Given the description of an element on the screen output the (x, y) to click on. 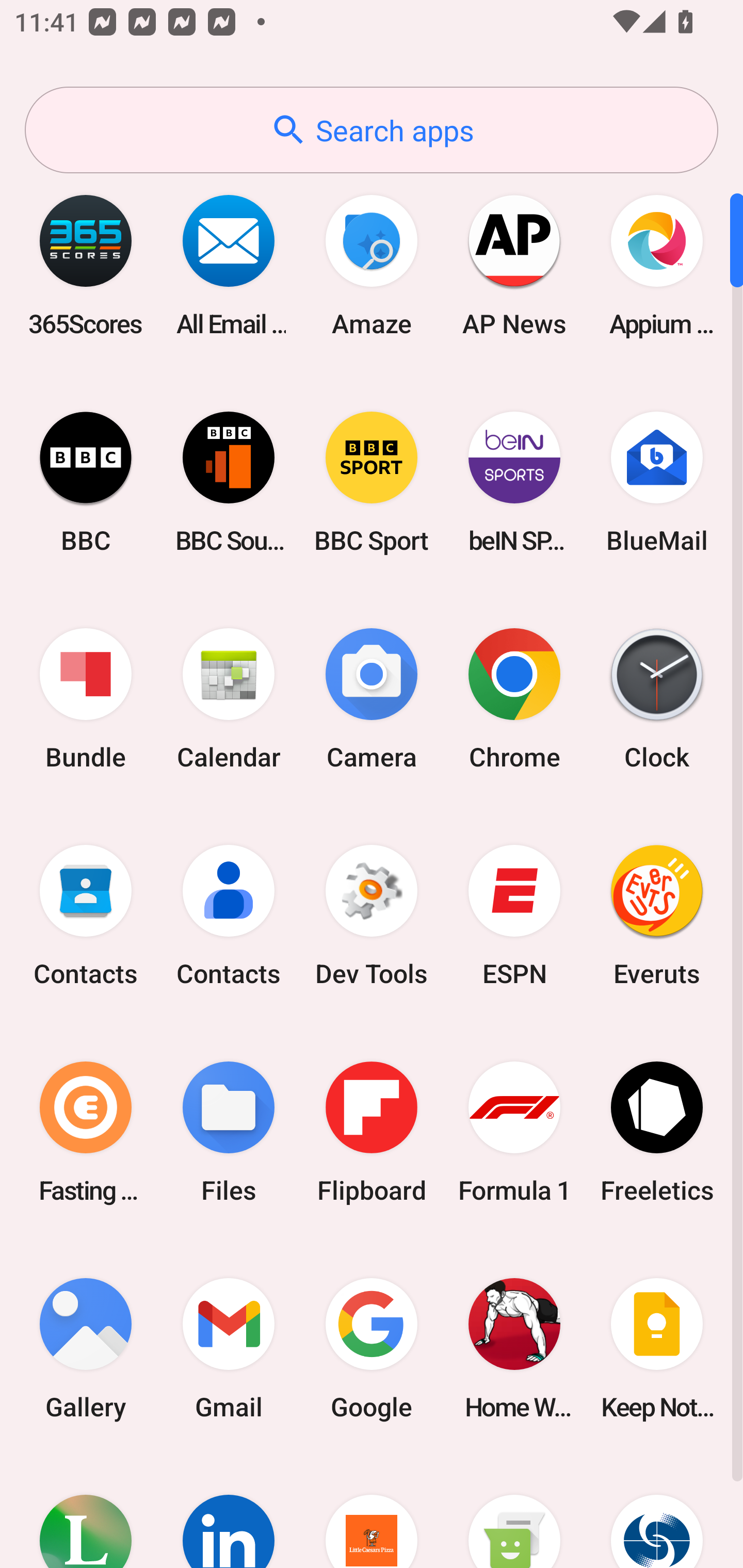
  Search apps (371, 130)
365Scores (85, 264)
All Email Connect (228, 264)
Amaze (371, 264)
AP News (514, 264)
Appium Settings (656, 264)
BBC (85, 482)
BBC Sounds (228, 482)
BBC Sport (371, 482)
beIN SPORTS (514, 482)
BlueMail (656, 482)
Bundle (85, 699)
Calendar (228, 699)
Camera (371, 699)
Chrome (514, 699)
Clock (656, 699)
Contacts (85, 915)
Contacts (228, 915)
Dev Tools (371, 915)
ESPN (514, 915)
Everuts (656, 915)
Fasting Coach (85, 1131)
Files (228, 1131)
Flipboard (371, 1131)
Formula 1 (514, 1131)
Freeletics (656, 1131)
Gallery (85, 1348)
Gmail (228, 1348)
Google (371, 1348)
Home Workout (514, 1348)
Keep Notes (656, 1348)
Lifesum (85, 1512)
LinkedIn (228, 1512)
Little Caesars Pizza (371, 1512)
Messaging (514, 1512)
MyObservatory (656, 1512)
